Given the description of an element on the screen output the (x, y) to click on. 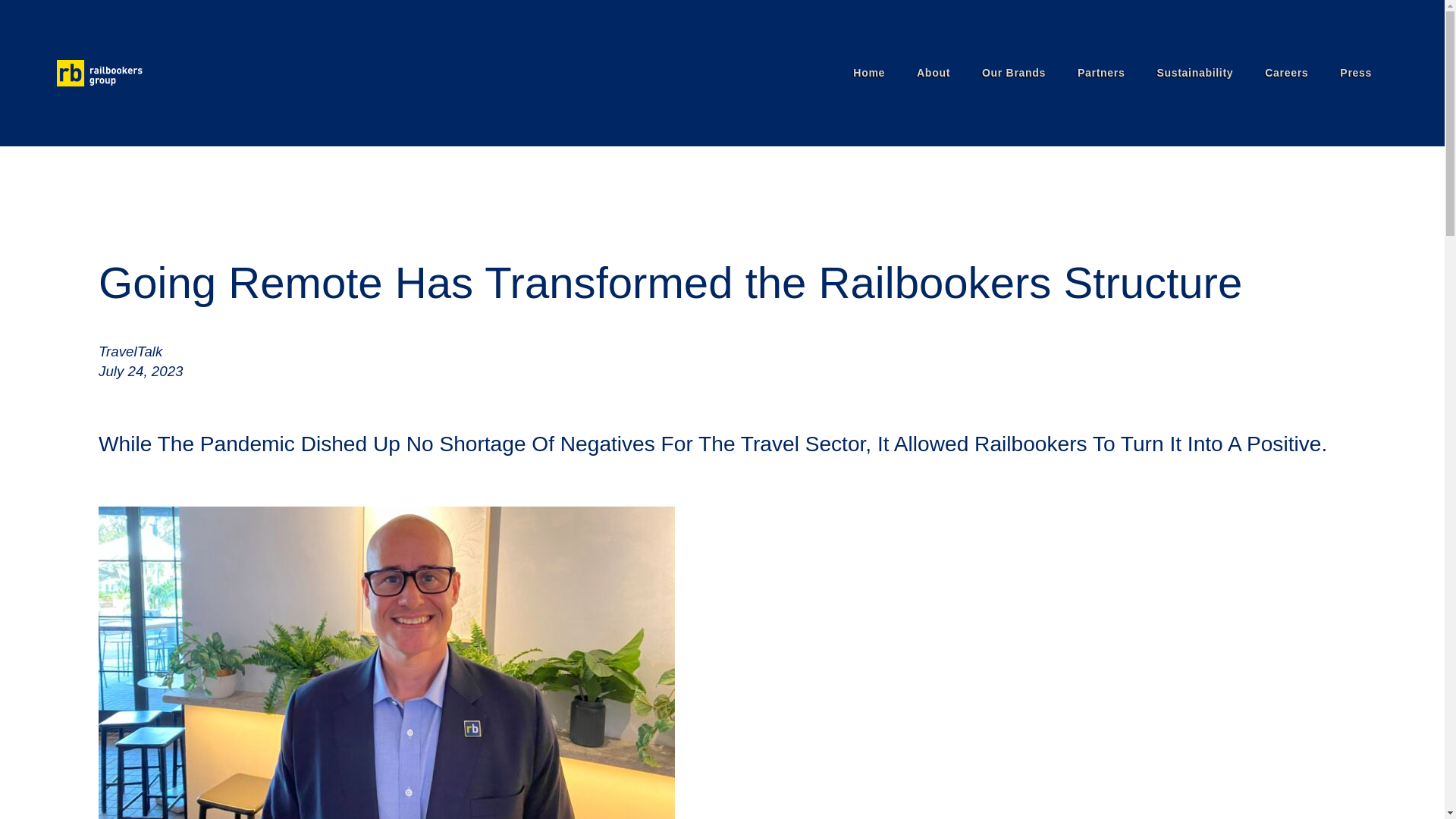
About (933, 72)
Press (1355, 72)
Sustainability (1194, 72)
Careers (1286, 72)
Home (869, 72)
Partners (1100, 72)
Our Brands (1013, 72)
